Given the description of an element on the screen output the (x, y) to click on. 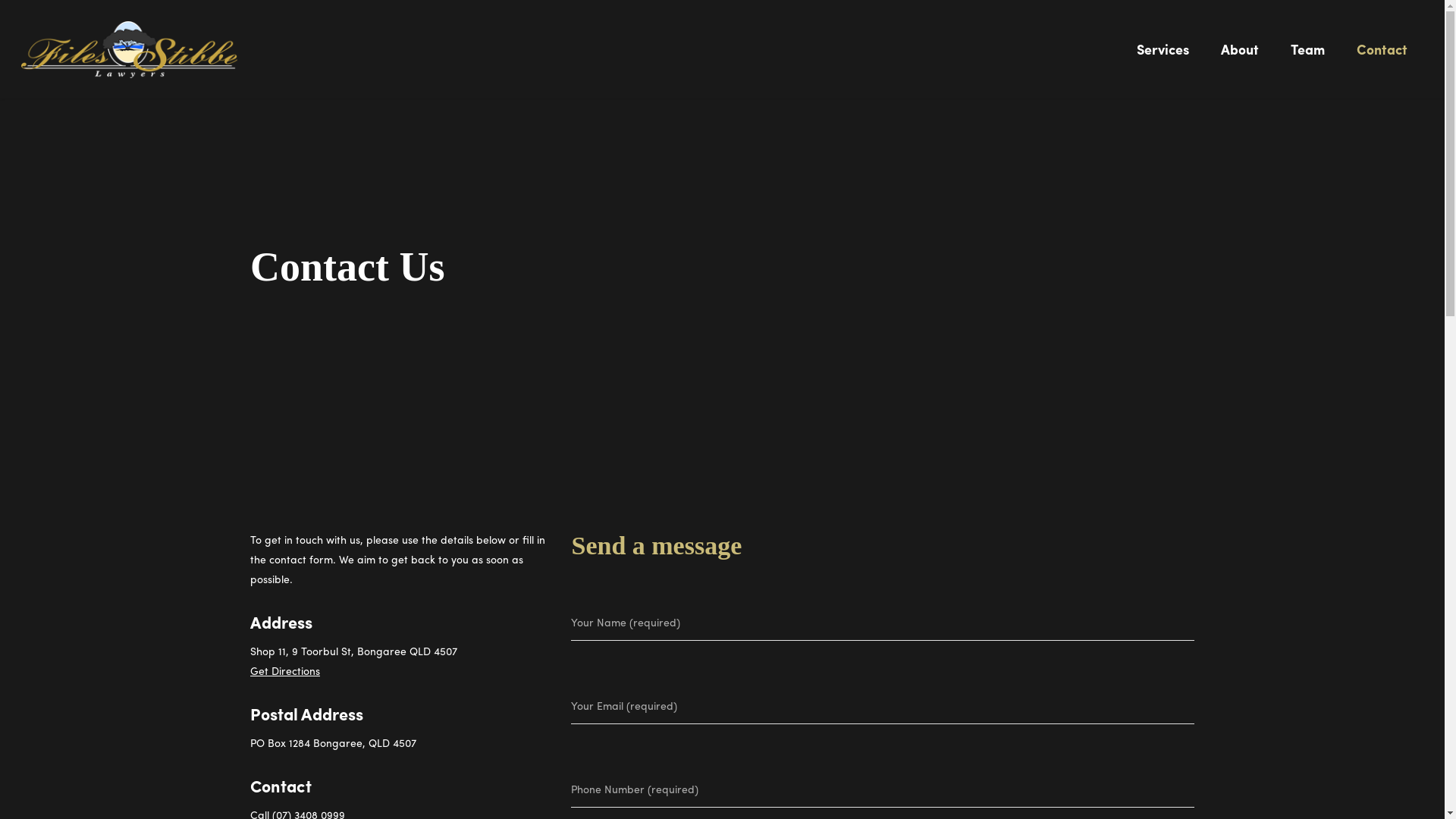
Team Element type: text (1307, 59)
Contact Element type: text (1381, 59)
Services Element type: text (1162, 59)
Get Directions Element type: text (285, 669)
About Element type: text (1239, 59)
